Given the description of an element on the screen output the (x, y) to click on. 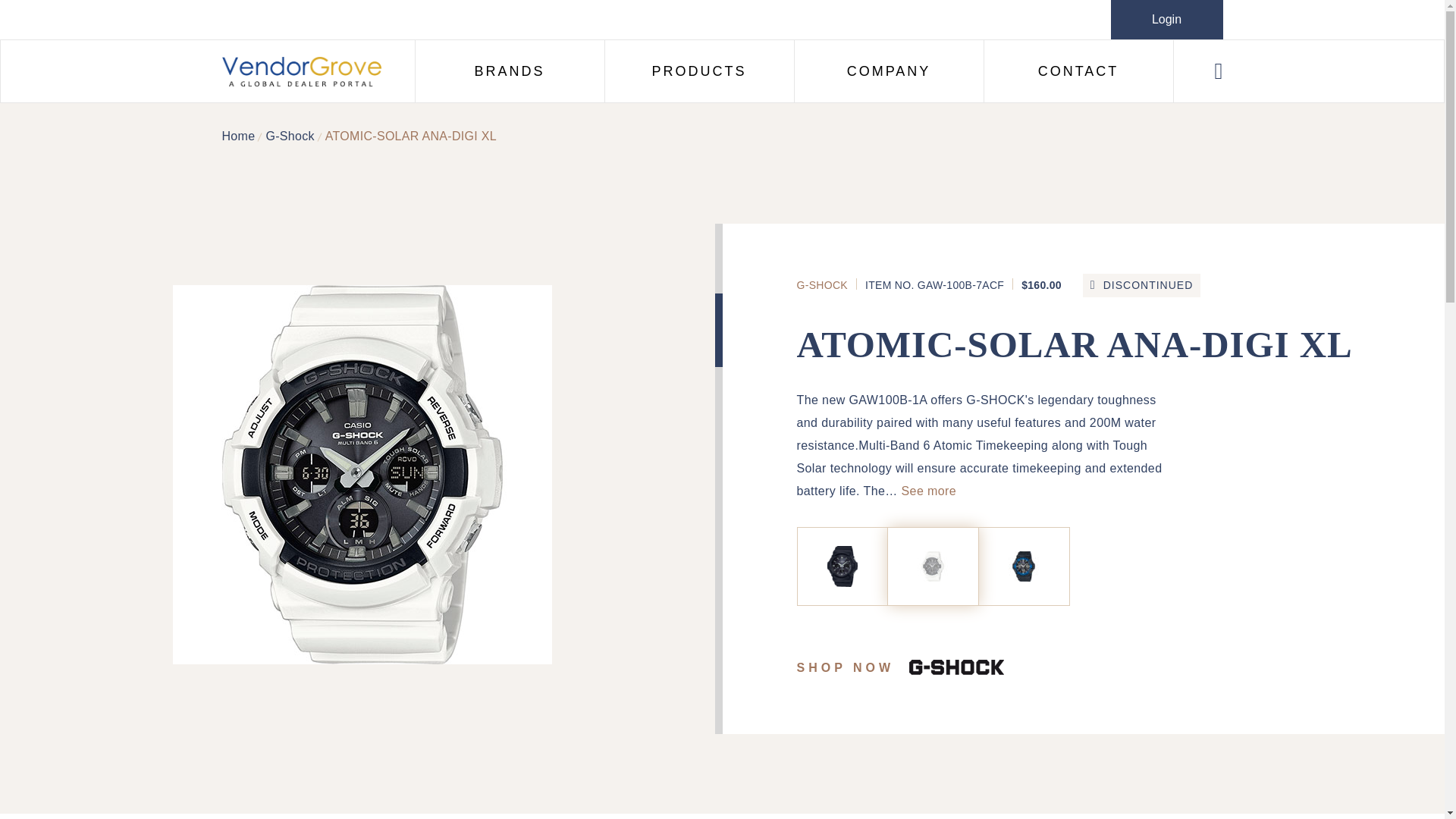
PRODUCTS (698, 70)
BRANDS (509, 70)
Login (1166, 19)
